Given the description of an element on the screen output the (x, y) to click on. 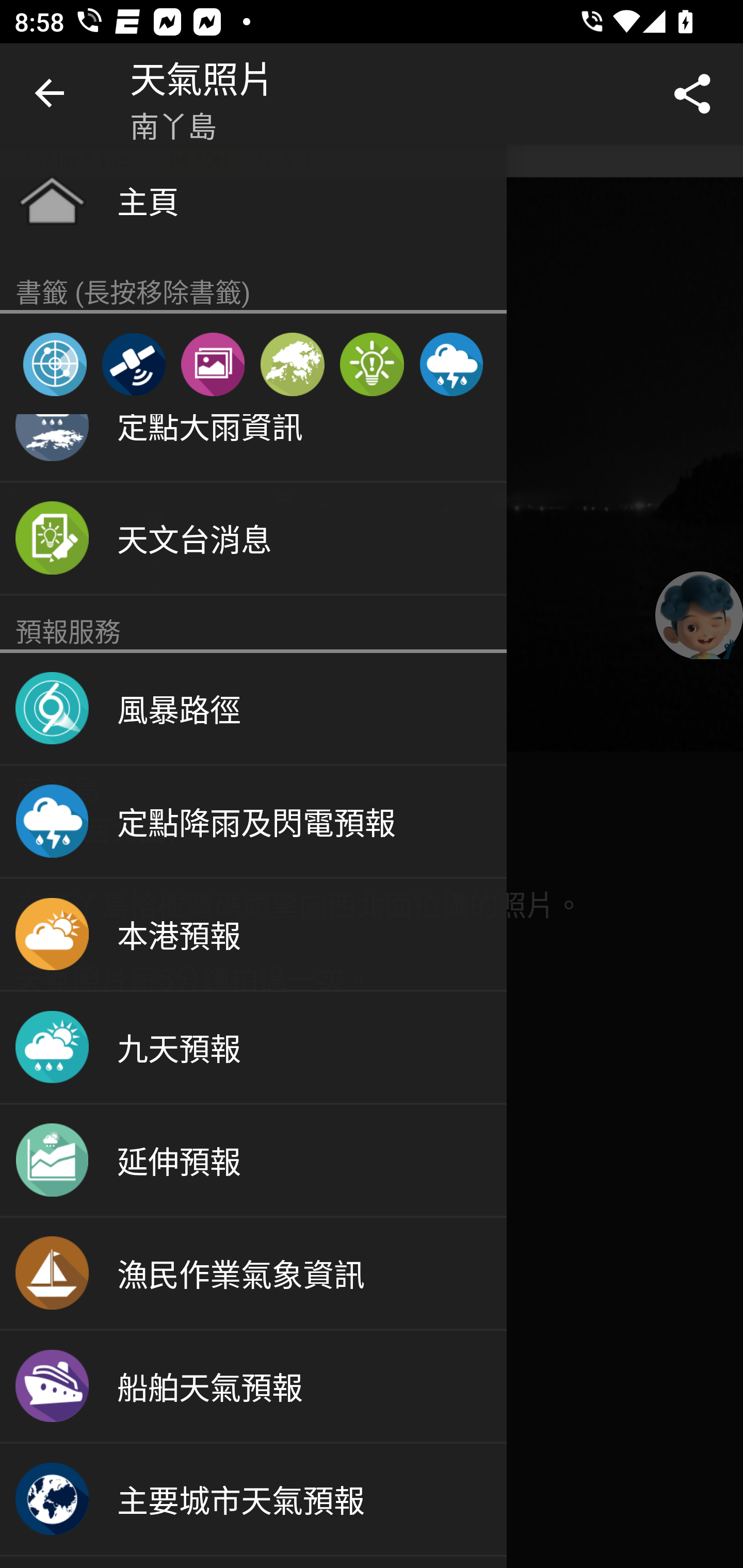
向上瀏覽 (50, 93)
分享 (692, 93)
主頁 (253, 199)
雷達圖像 (54, 364)
衛星圖像 (133, 364)
天氣照片 (212, 364)
分區天氣 (292, 364)
天氣提示 (371, 364)
定點降雨及閃電預報 (451, 364)
定點大雨資訊 (253, 447)
天文台消息 (253, 538)
風暴路徑 (253, 708)
定點降雨及閃電預報 (253, 822)
本港預報 (253, 935)
九天預報 (253, 1047)
延伸預報 (253, 1160)
漁民作業氣象資訊 (253, 1273)
船舶天氣預報 (253, 1386)
主要城市天氣預報 (253, 1499)
